Given the description of an element on the screen output the (x, y) to click on. 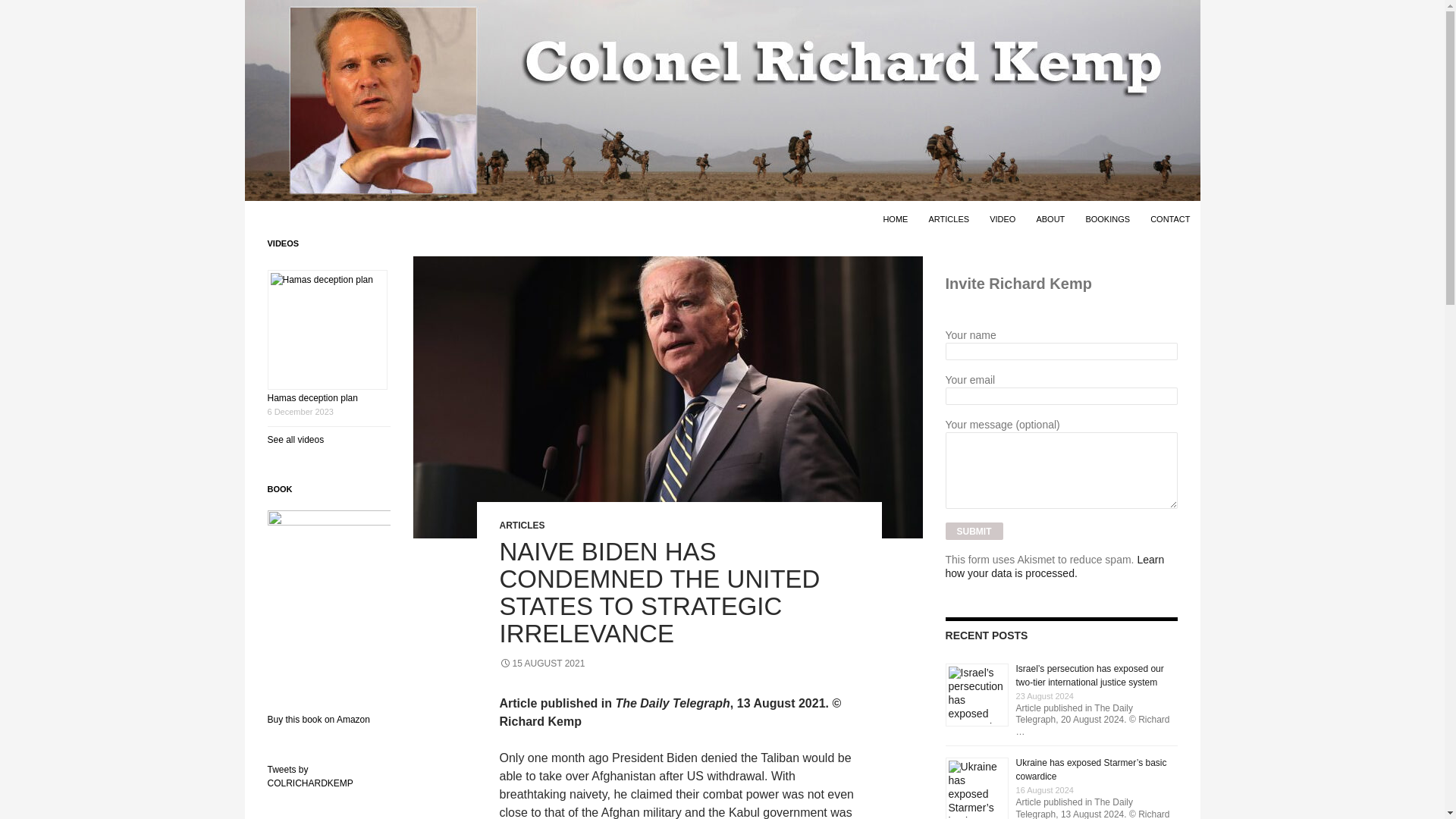
BOOKINGS (1106, 218)
Submit (973, 530)
HOME (895, 218)
Learn how your data is processed. (1054, 566)
ABOUT (1050, 218)
ARTICLES (521, 525)
Submit (973, 530)
Hamas deception plan (311, 398)
VIDEO (1002, 218)
Buy this book on Amazon (317, 719)
